Given the description of an element on the screen output the (x, y) to click on. 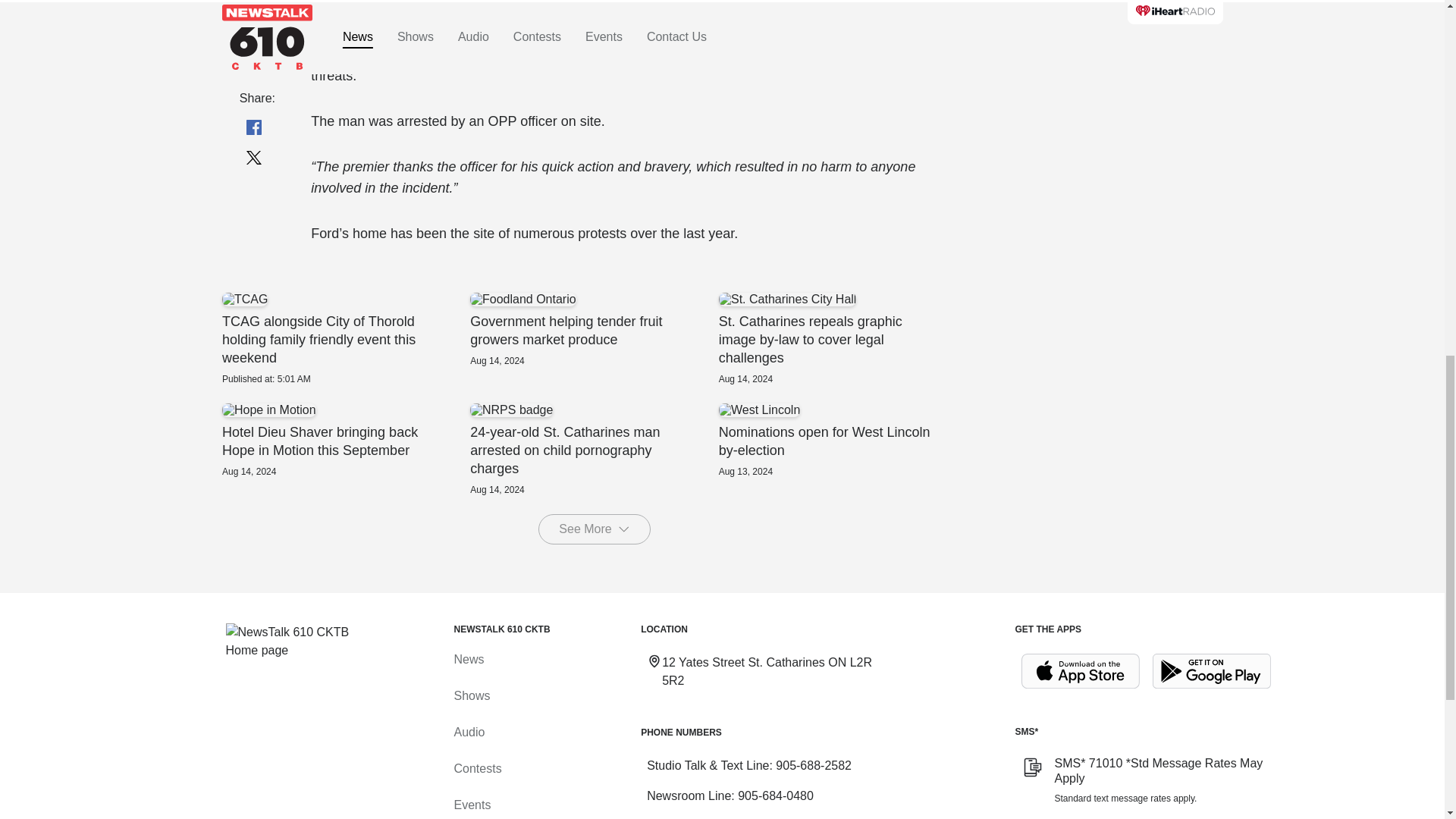
News (467, 658)
Download on the App Store (1080, 671)
Contests (476, 768)
Nominations open for West Lincoln by-election (841, 440)
905-688-2582 (813, 765)
Events (471, 804)
